Given the description of an element on the screen output the (x, y) to click on. 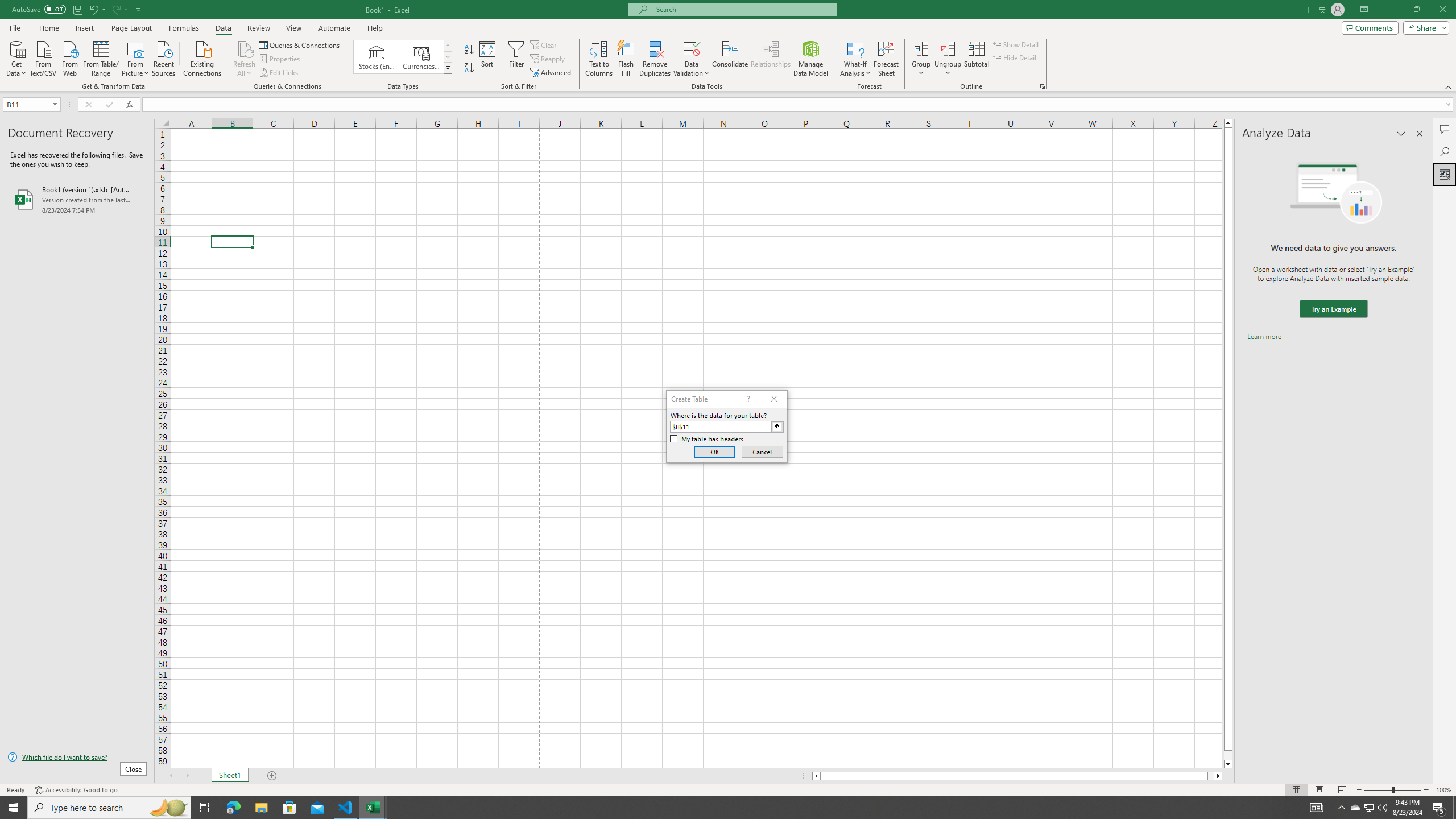
Sort A to Z (469, 49)
From Web (69, 57)
Hide Detail (1014, 56)
Search (1444, 151)
Row Down (448, 56)
Recent Sources (163, 57)
